Given the description of an element on the screen output the (x, y) to click on. 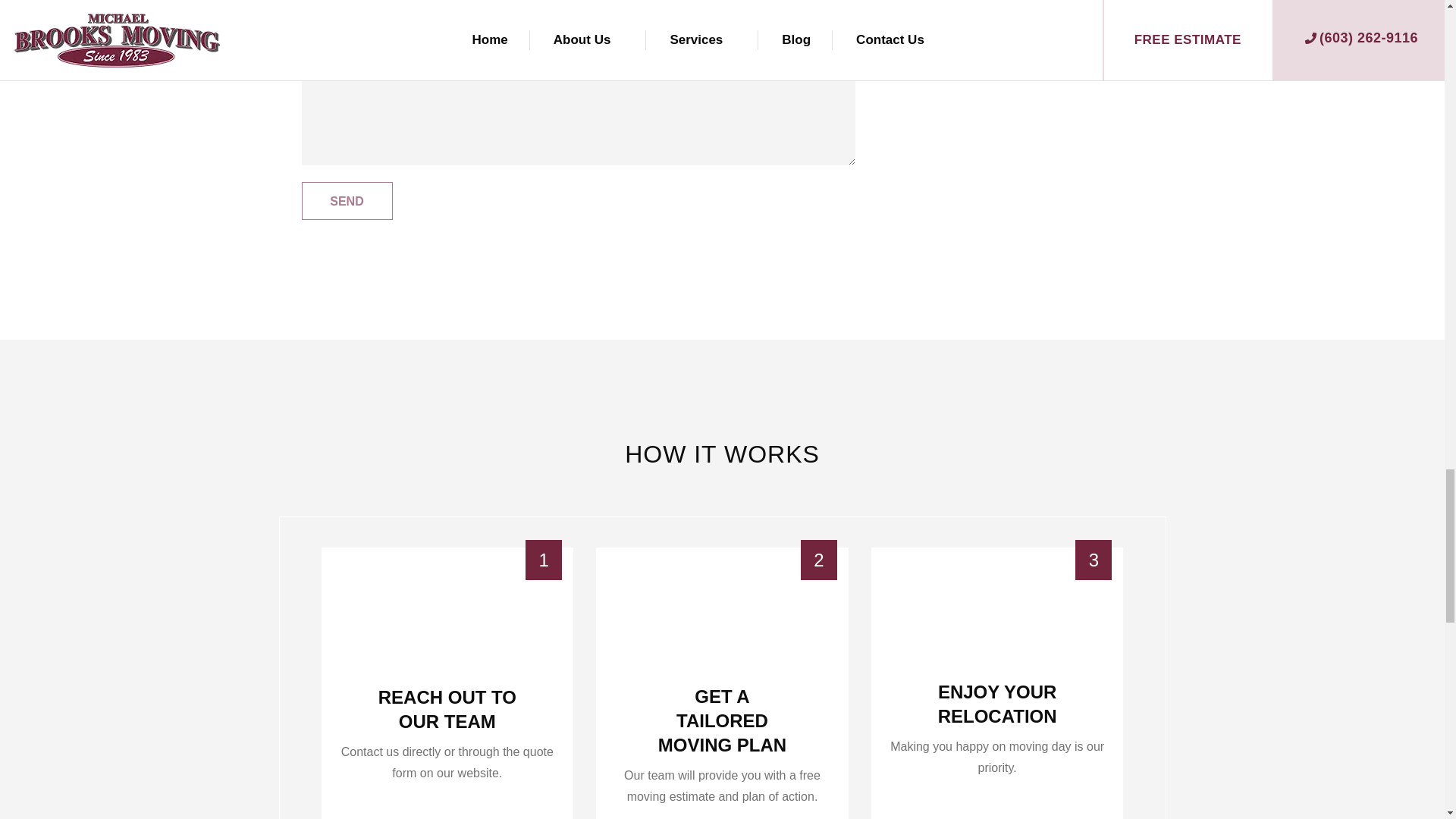
Send (347, 200)
